Given the description of an element on the screen output the (x, y) to click on. 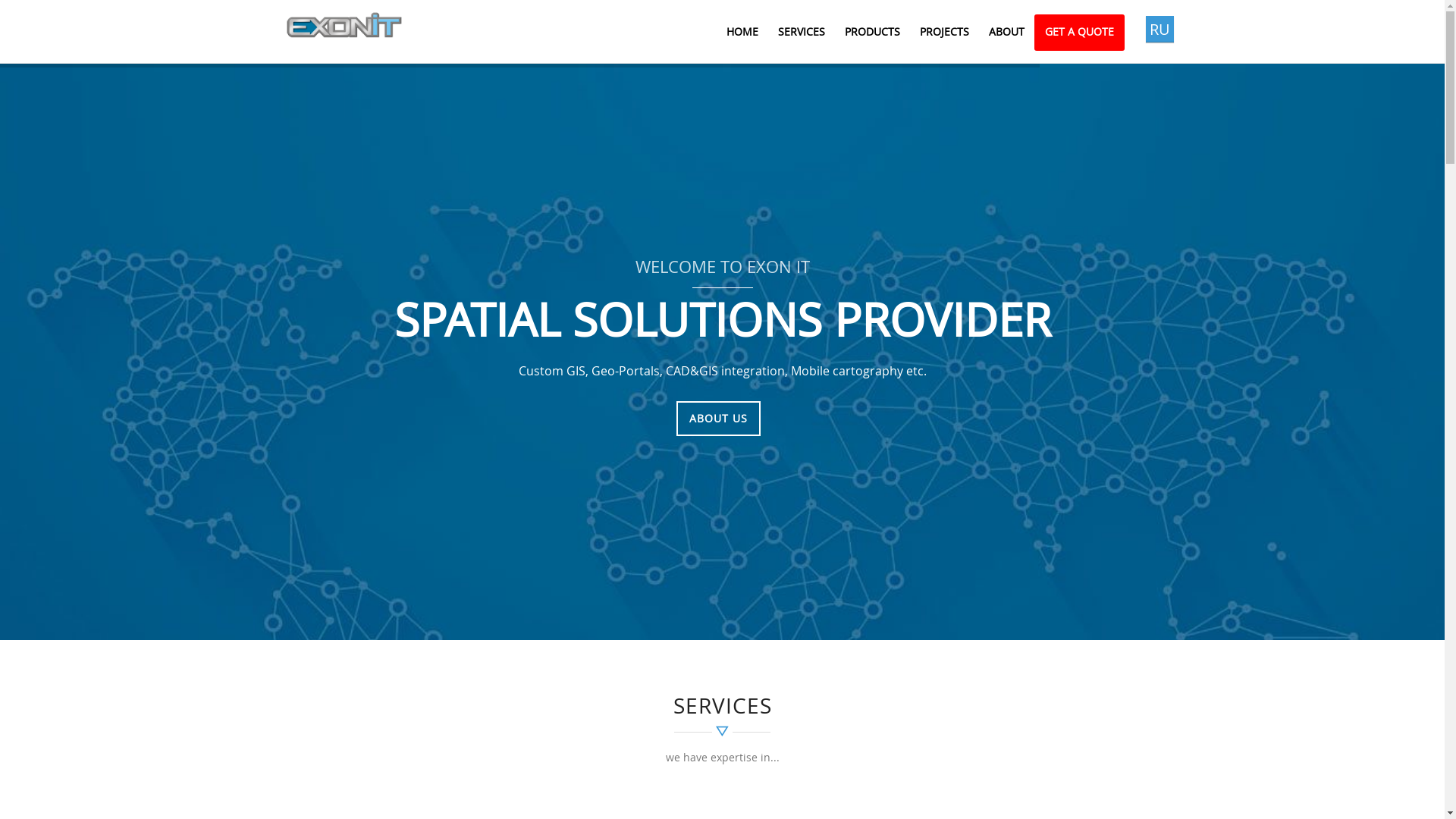
ABOUT US Element type: text (718, 418)
Home Element type: hover (343, 23)
Skip to main content Element type: text (59, 0)
PROJECTS Element type: text (944, 31)
HOME Element type: text (741, 31)
RU Element type: text (1159, 28)
GET A QUOTE Element type: text (1079, 32)
